Given the description of an element on the screen output the (x, y) to click on. 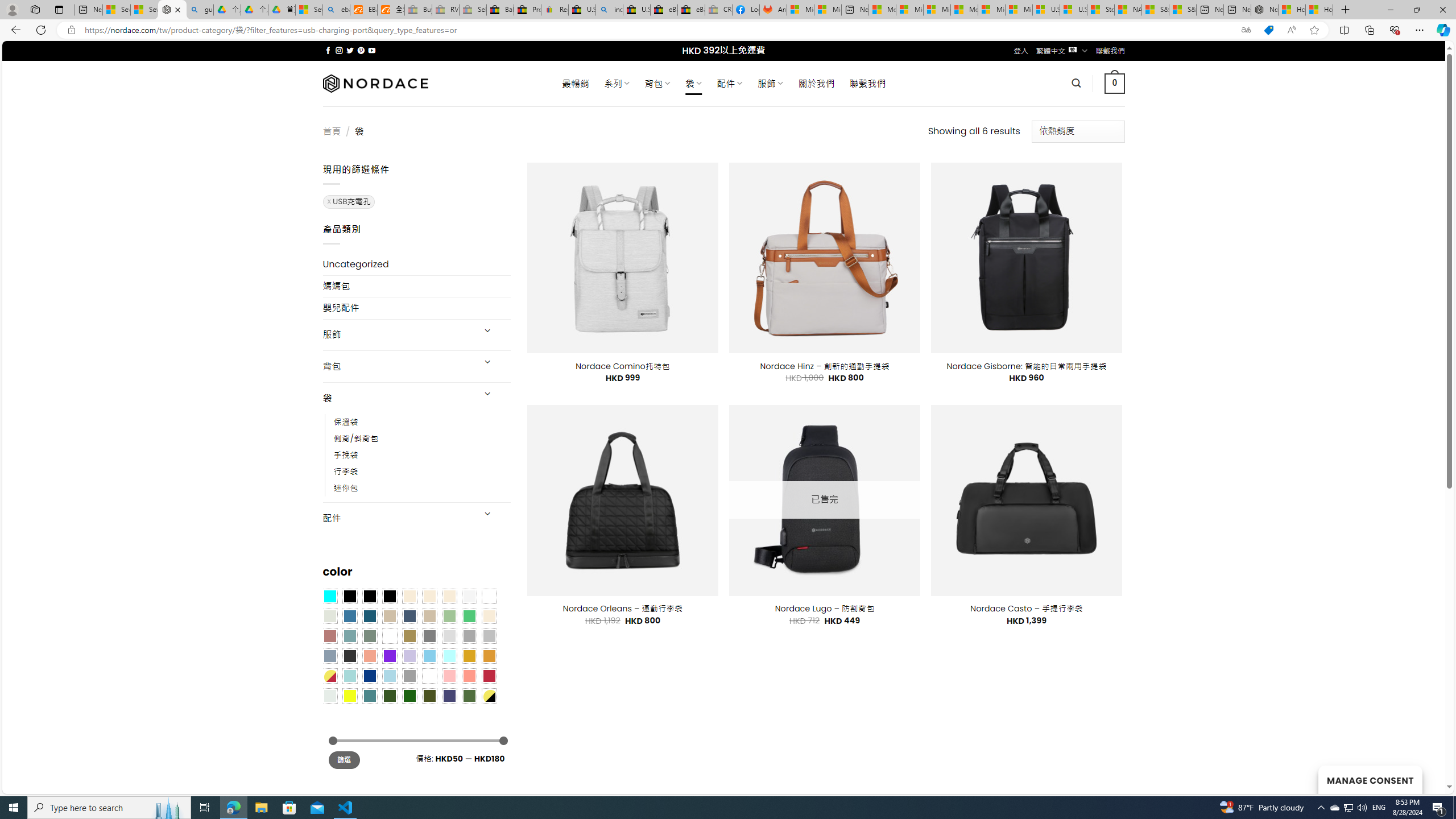
Cream (449, 595)
This site has coupons! Shopping in Microsoft Edge (1268, 29)
ebay - Search (336, 9)
